Given the description of an element on the screen output the (x, y) to click on. 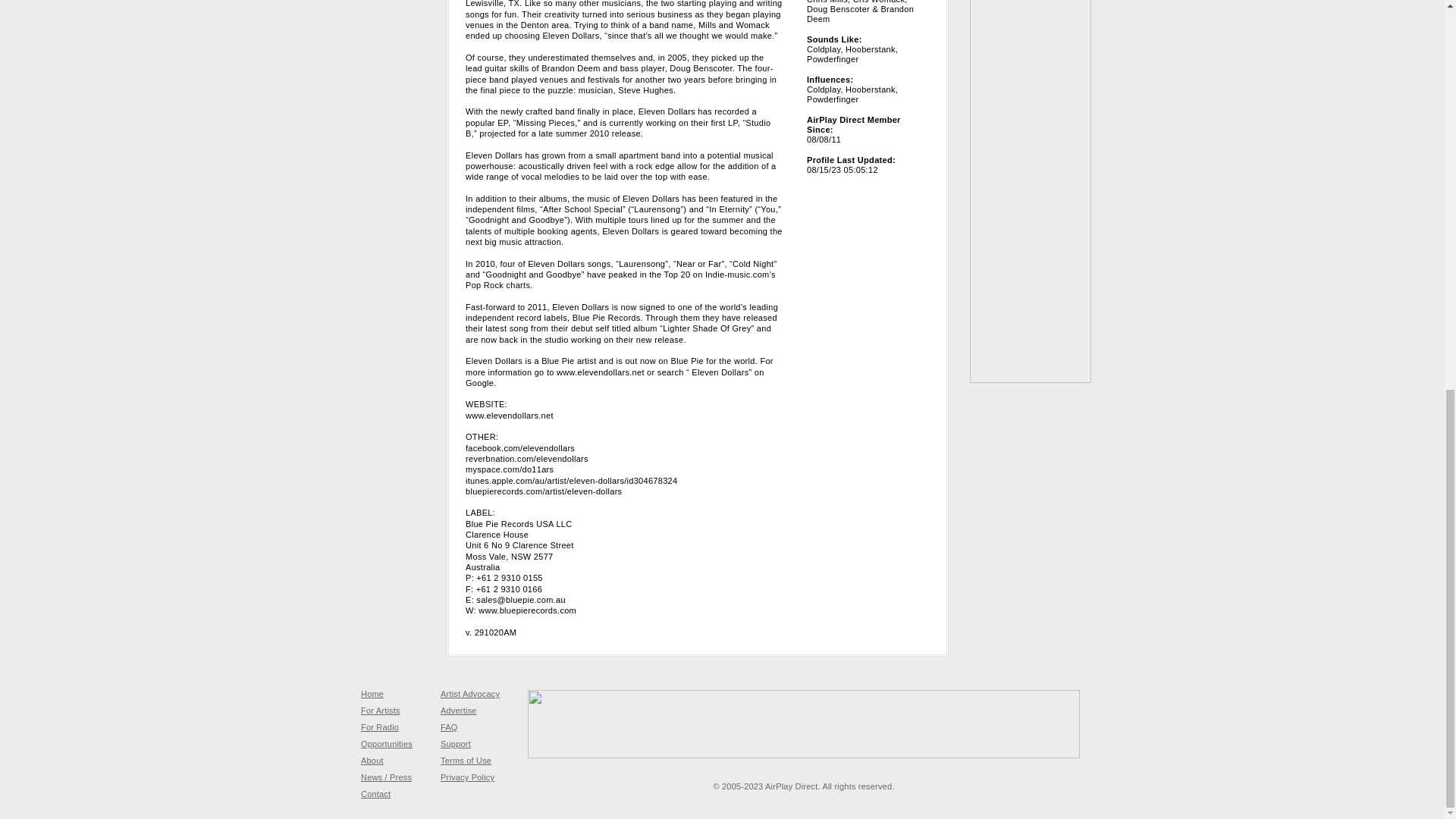
For Radio (379, 727)
Home (372, 693)
For Artists (380, 709)
Terms of Use (466, 759)
Opportunities (386, 743)
Advertise (459, 709)
Privacy Policy (468, 777)
Contact (375, 793)
About (372, 759)
Support (455, 743)
